Given the description of an element on the screen output the (x, y) to click on. 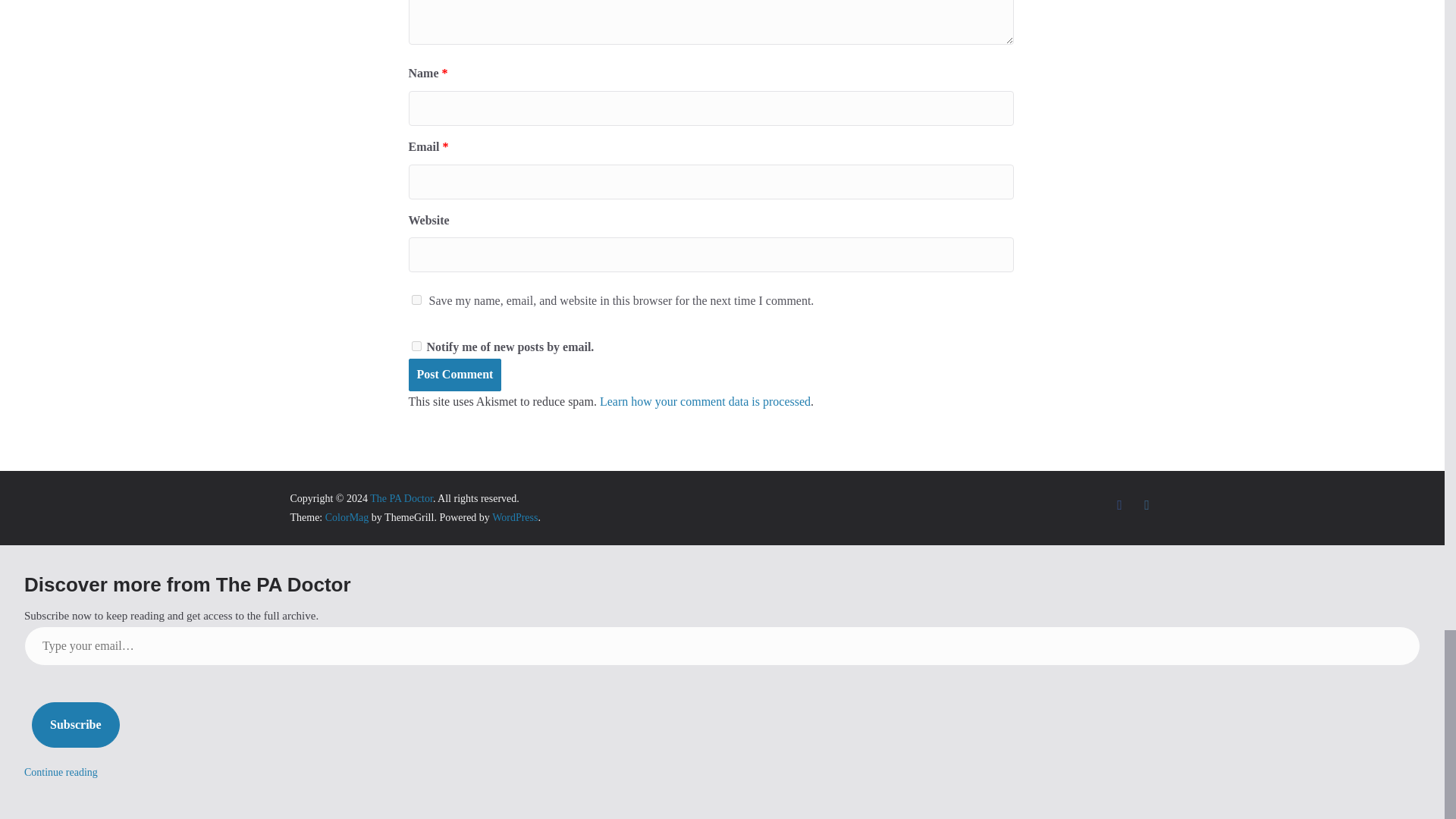
yes (415, 299)
subscribe (415, 346)
Post Comment (453, 374)
